Given the description of an element on the screen output the (x, y) to click on. 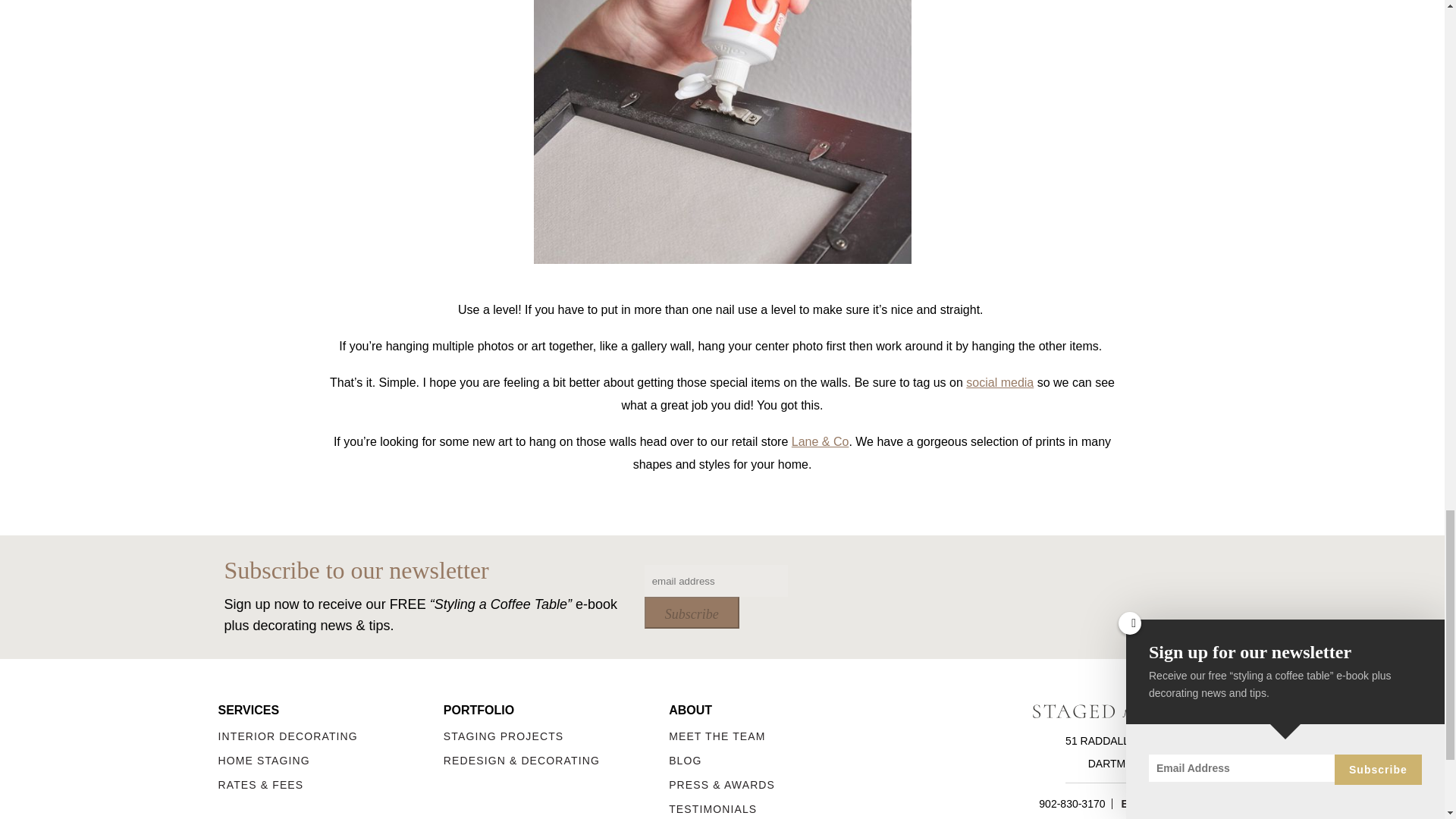
social media (999, 382)
INTERIOR DECORATING (331, 736)
Subscribe (692, 612)
Subscribe (692, 612)
HOME STAGING (331, 760)
